Given the description of an element on the screen output the (x, y) to click on. 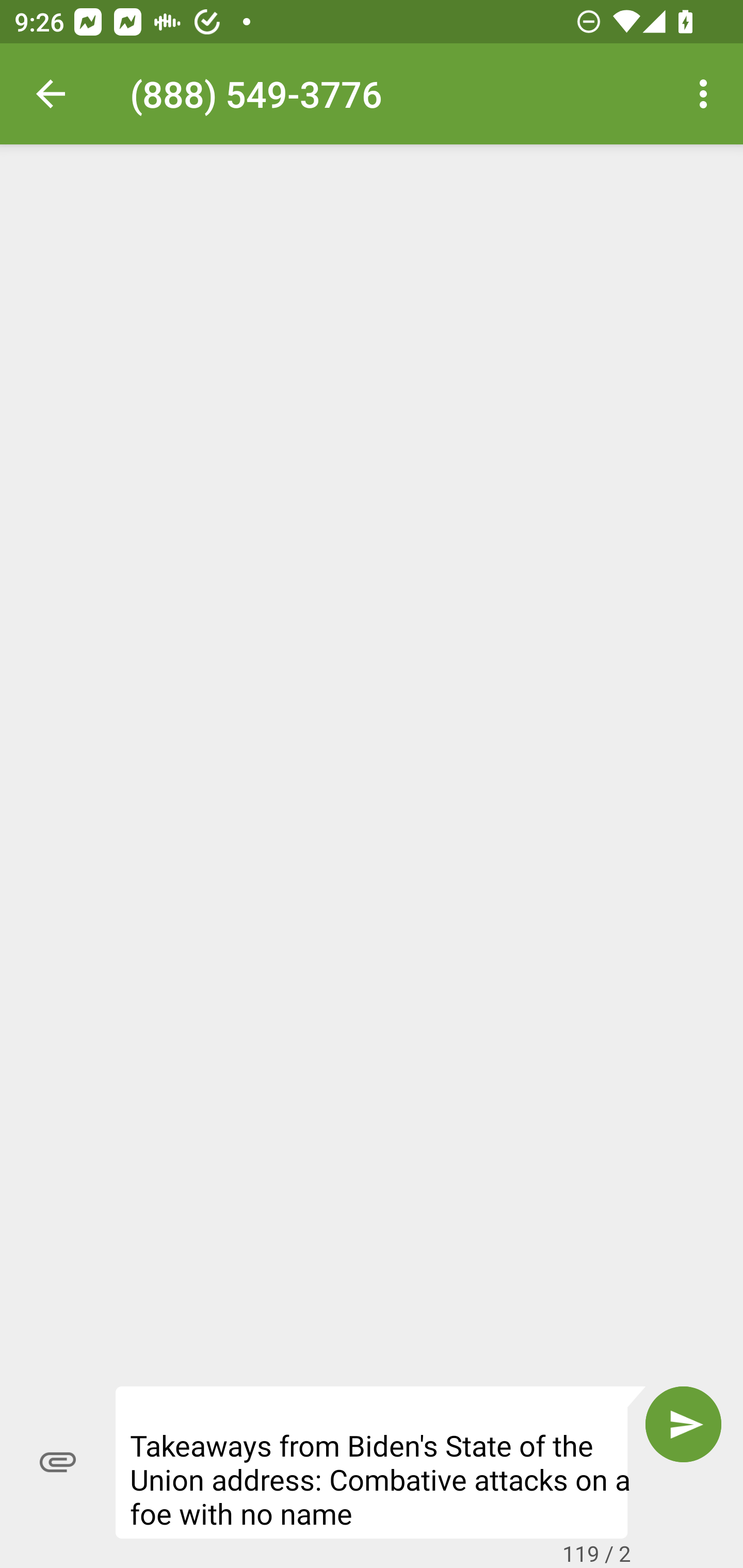
Navigate up (50, 93)
More options (706, 93)
Add an attachment (57, 1462)
